Given the description of an element on the screen output the (x, y) to click on. 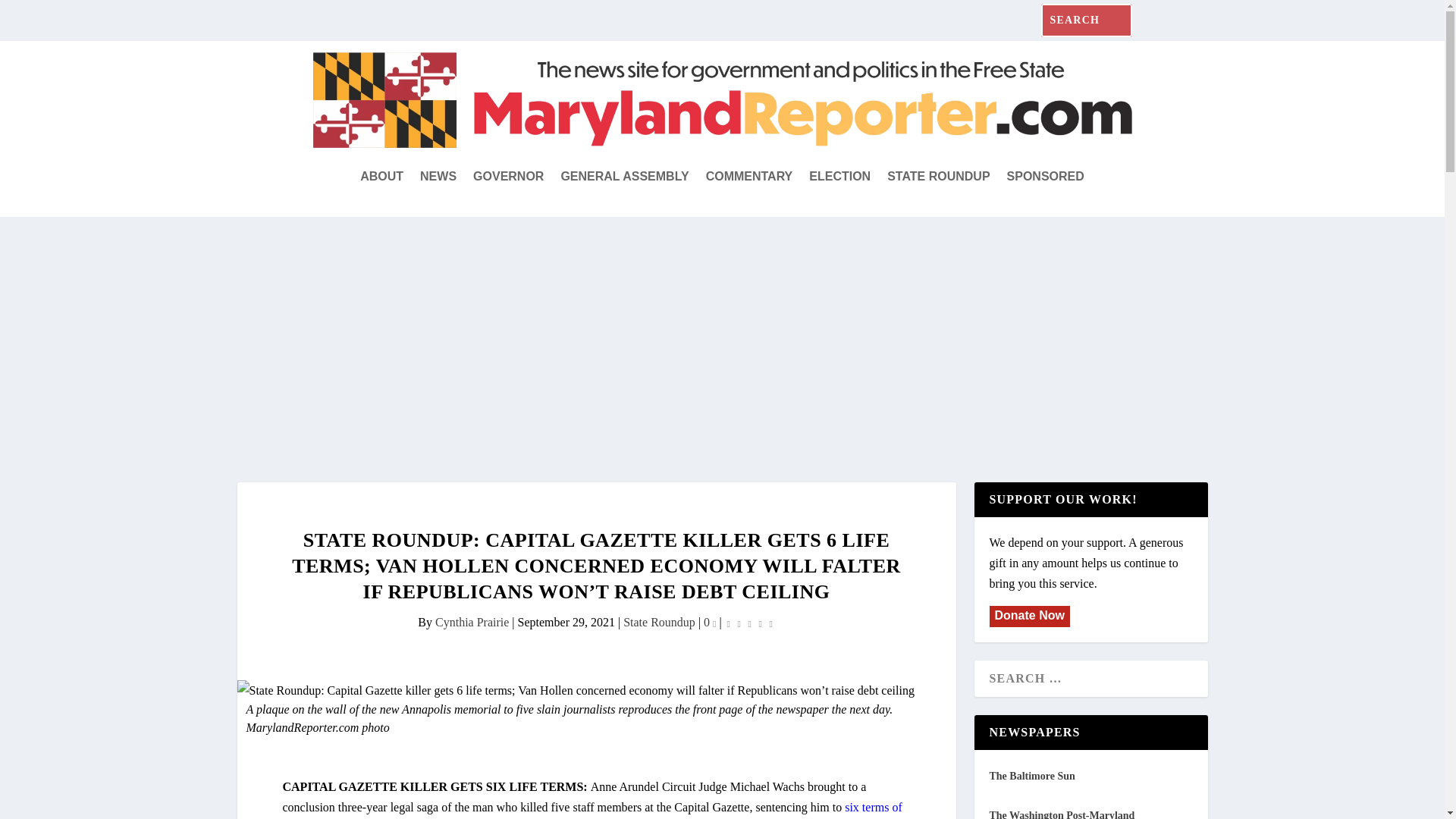
Rating: 0.00 (749, 622)
STATE ROUNDUP (938, 176)
State Roundup (659, 621)
Posts by Cynthia Prairie (471, 621)
ELECTION (839, 176)
0 (709, 621)
GOVERNOR (508, 176)
SPONSORED (1045, 176)
six terms of life in prison, (591, 809)
Search (29, 16)
Cynthia Prairie (471, 621)
GENERAL ASSEMBLY (624, 176)
COMMENTARY (749, 176)
